Given the description of an element on the screen output the (x, y) to click on. 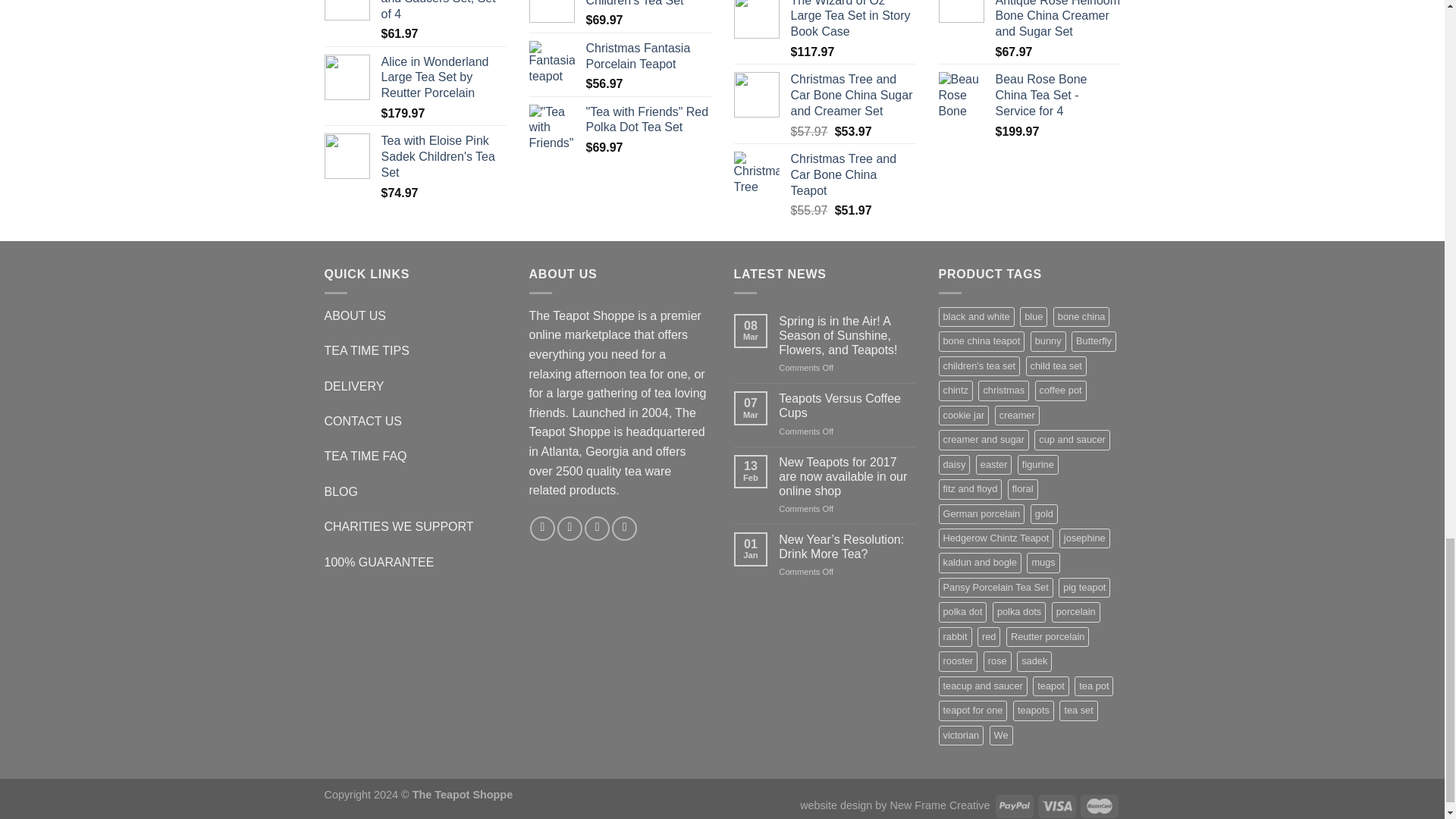
Follow on Twitter (569, 528)
Teapots Versus Coffee Cups (846, 405)
Follow on Facebook (541, 528)
New Teapots for 2017 are now available in our online shop (846, 476)
Follow on Pinterest (624, 528)
Send us an email (597, 528)
